Given the description of an element on the screen output the (x, y) to click on. 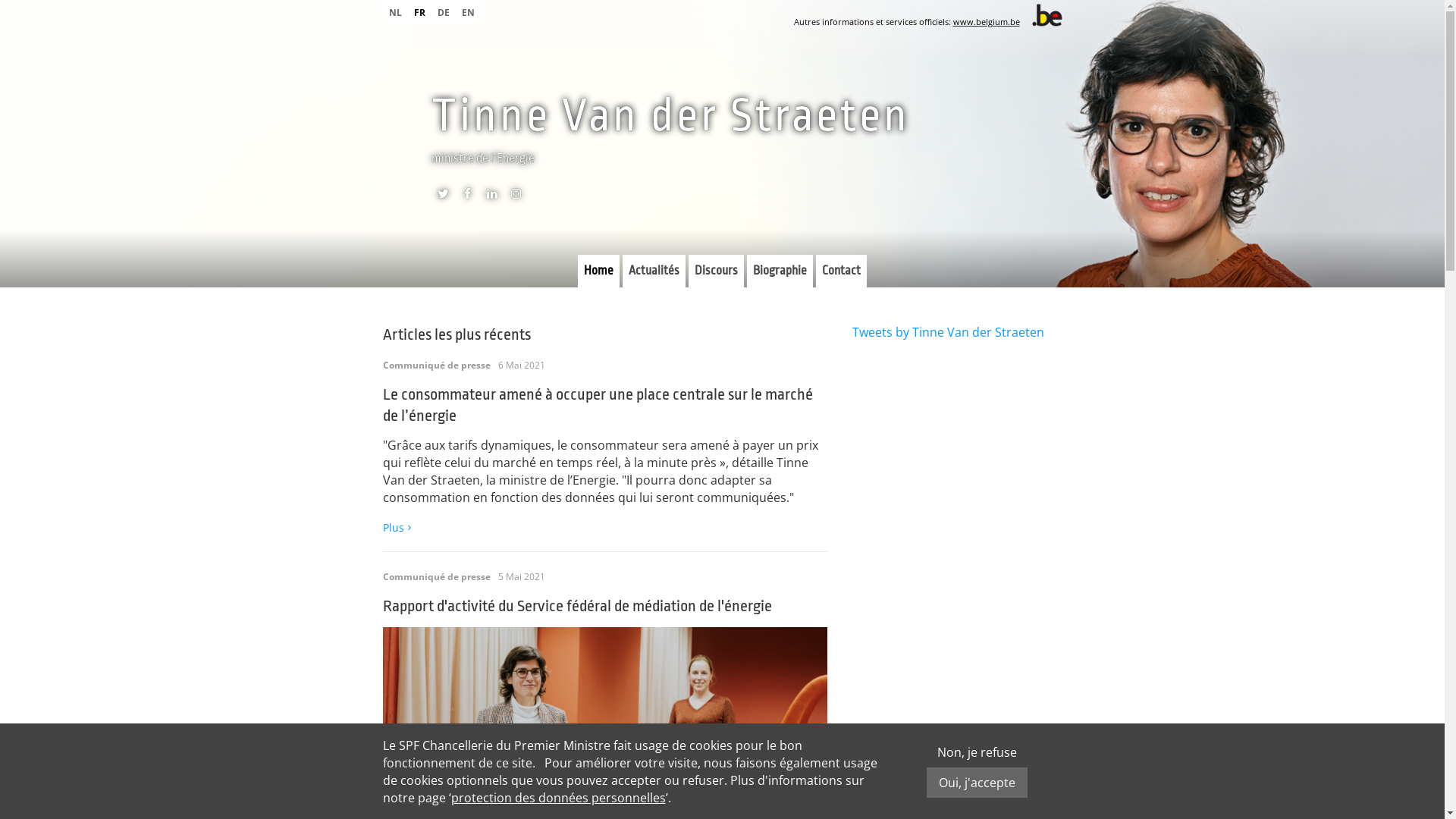
Oui, j'accepte Element type: text (976, 782)
Tweets by Tinne Van der Straeten Element type: text (948, 331)
EN Element type: text (467, 11)
instagram Element type: text (515, 197)
www.belgium.be Element type: text (985, 21)
NL Element type: text (394, 11)
FR Element type: text (419, 11)
facebook Element type: text (467, 197)
Home Element type: text (598, 271)
Aller au contenu principal Element type: text (73, 0)
Contact Element type: text (841, 271)
Discours Element type: text (715, 271)
Non, je refuse Element type: text (977, 752)
twitter Element type: text (442, 197)
DE Element type: text (442, 11)
Biographie Element type: text (779, 271)
Tinne Van der Straeten Element type: text (669, 115)
linkedin Element type: text (491, 197)
Plus Element type: text (398, 527)
